Given the description of an element on the screen output the (x, y) to click on. 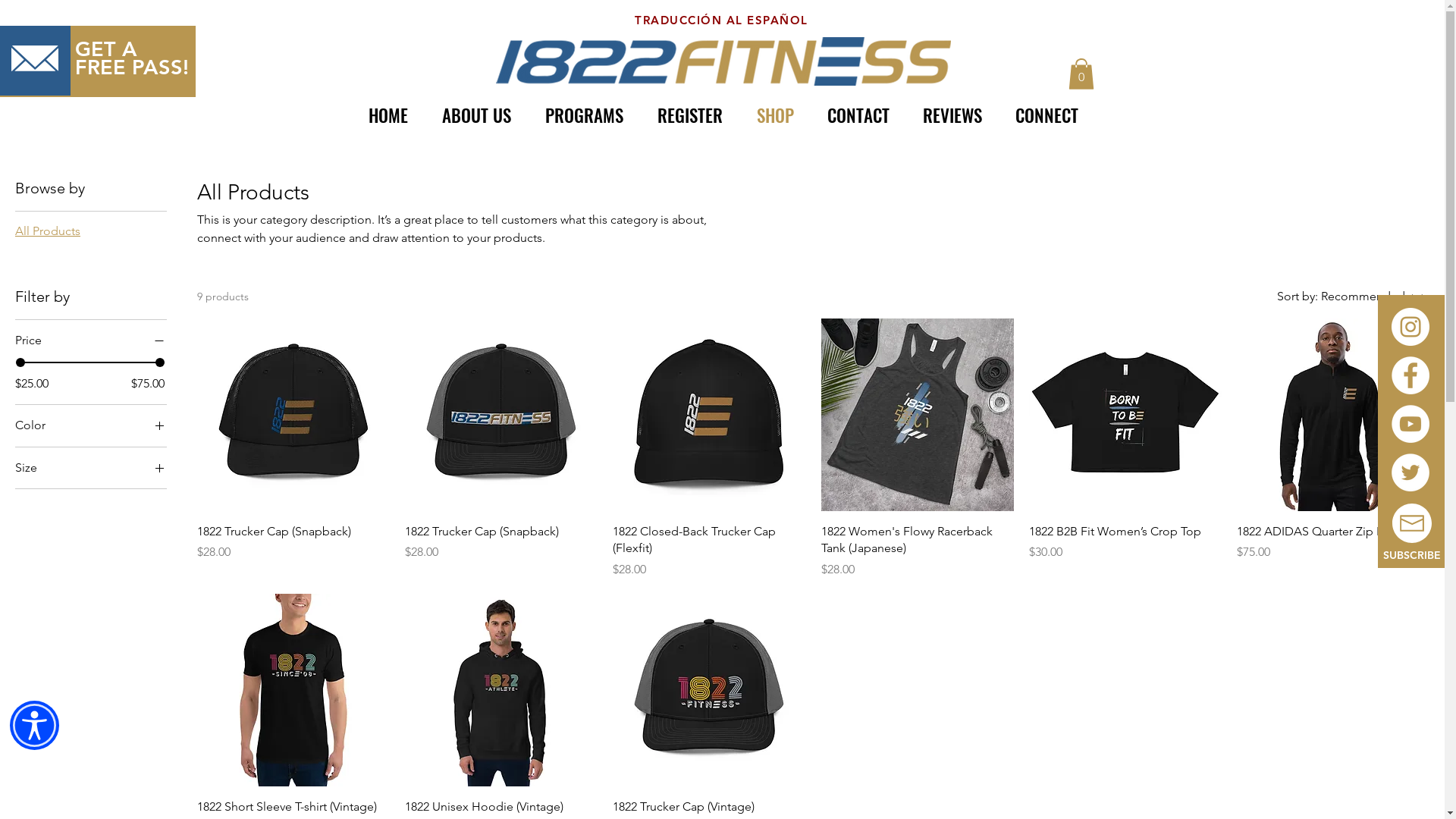
ABOUT US Element type: text (475, 115)
Sort by:
Recommended Element type: text (1345, 297)
GET A Element type: text (106, 49)
1822 Closed-Back Trucker Cap (Flexfit)
Price
$28.00 Element type: text (708, 550)
SUBSCRIBE Element type: text (1411, 554)
1822 Trucker Cap (Snapback)
Price
$28.00 Element type: text (500, 550)
CONTACT Element type: text (857, 115)
Color Element type: text (90, 425)
0 Element type: text (1080, 73)
SHOP Element type: text (775, 115)
1822 ADIDAS Quarter Zip Pullover
Price
$75.00 Element type: text (1332, 550)
HOME Element type: text (388, 115)
1822 Women's Flowy Racerback Tank (Japanese)
Price
$28.00 Element type: text (916, 550)
Size Element type: text (90, 467)
REVIEWS Element type: text (951, 115)
REGISTER Element type: text (689, 115)
All Products Element type: text (47, 230)
1822 Trucker Cap (Snapback)
Price
$28.00 Element type: text (293, 550)
Price Element type: text (90, 340)
Home Element type: text (32, 138)
FREE PASS! Element type: text (131, 67)
